Given the description of an element on the screen output the (x, y) to click on. 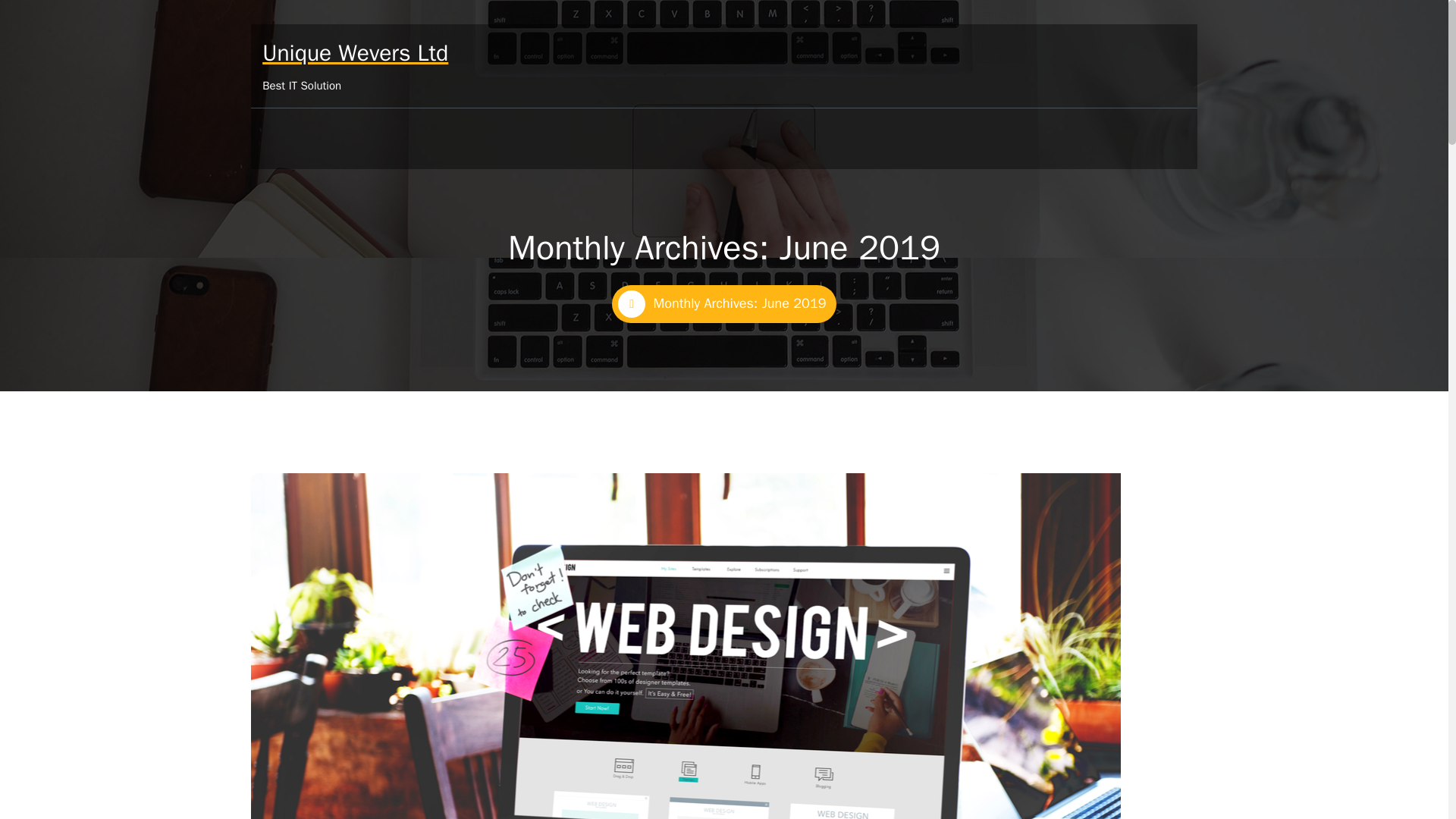
Unique Wevers Ltd (355, 56)
CoziPress (1165, 776)
